Given the description of an element on the screen output the (x, y) to click on. 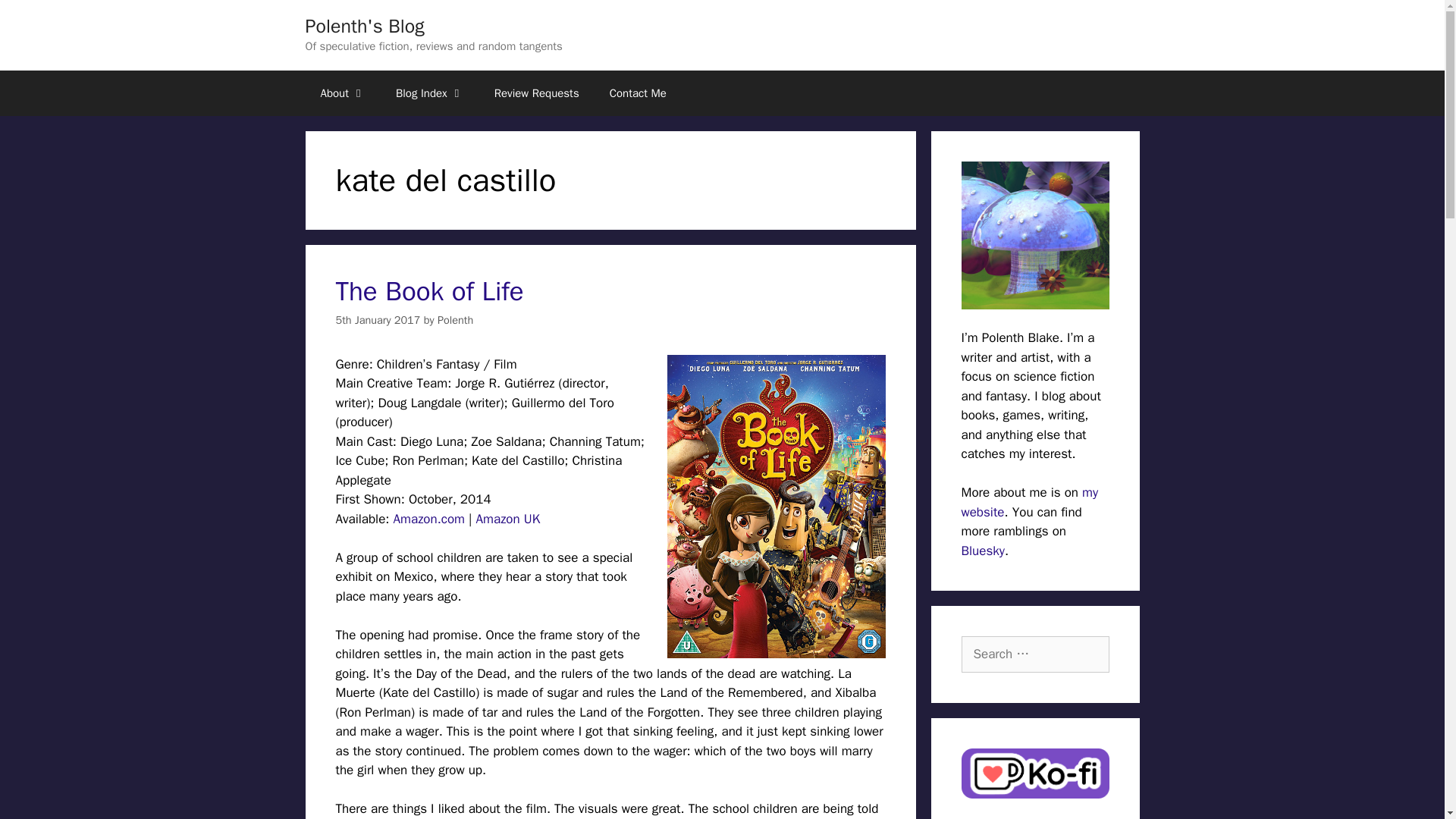
Blog Index (429, 92)
Amazon UK (508, 519)
The Book of Life (428, 290)
Search for: (1034, 654)
Amazon.com (428, 519)
About (342, 92)
Review Requests (536, 92)
Contact Me (637, 92)
Polenth (455, 319)
Polenth's Blog (363, 25)
View all posts by Polenth (455, 319)
